Given the description of an element on the screen output the (x, y) to click on. 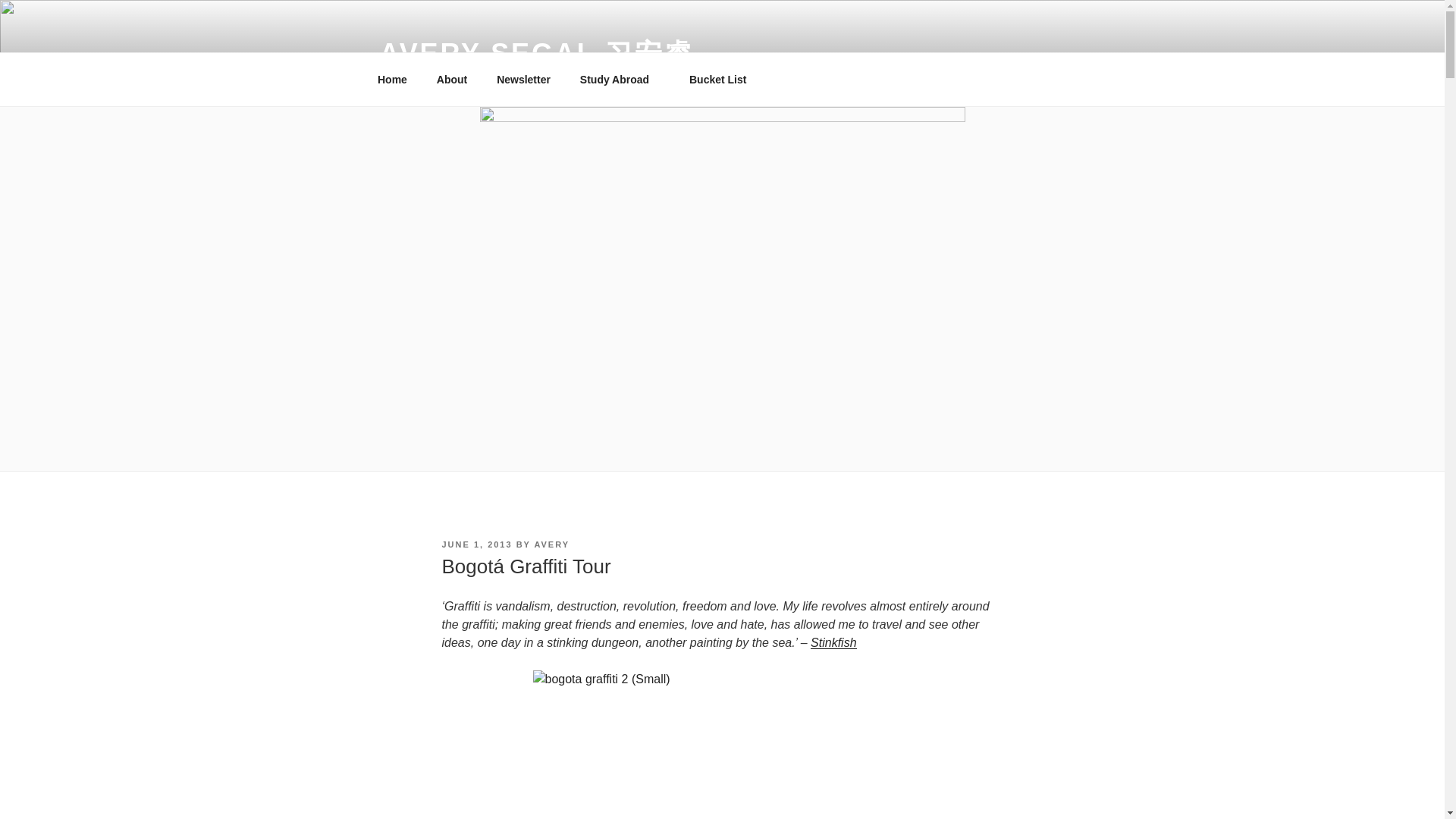
Newsletter (523, 78)
About (451, 78)
Home (392, 78)
JUNE 1, 2013 (476, 543)
AVERY (551, 543)
Stinkfish (833, 642)
Study Abroad (619, 78)
Bucket List (716, 78)
